Given the description of an element on the screen output the (x, y) to click on. 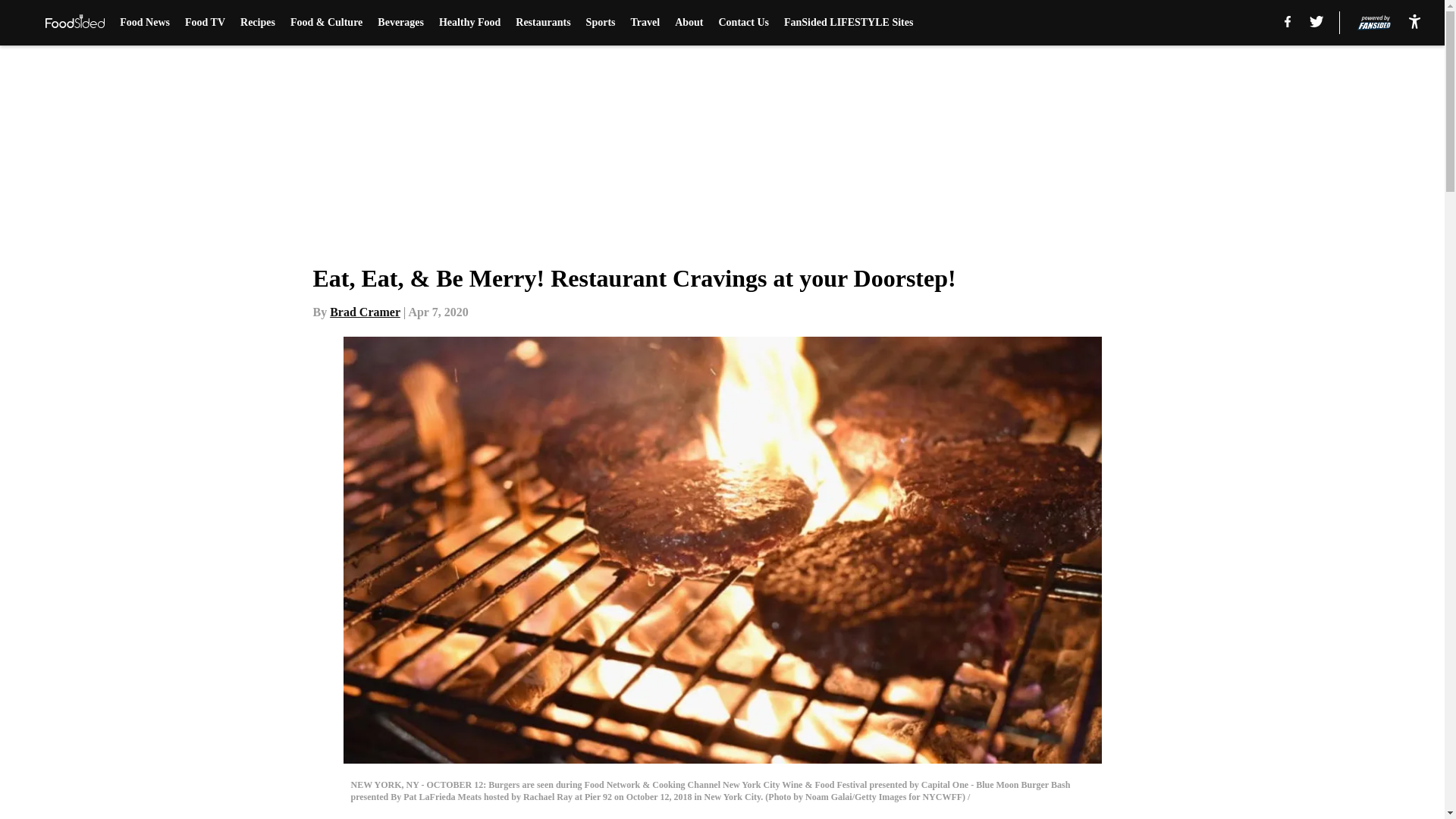
Food TV (204, 22)
Food News (144, 22)
Contact Us (744, 22)
Beverages (400, 22)
Restaurants (542, 22)
Sports (600, 22)
FanSided LIFESTYLE Sites (848, 22)
About (689, 22)
Travel (645, 22)
Recipes (257, 22)
